Given the description of an element on the screen output the (x, y) to click on. 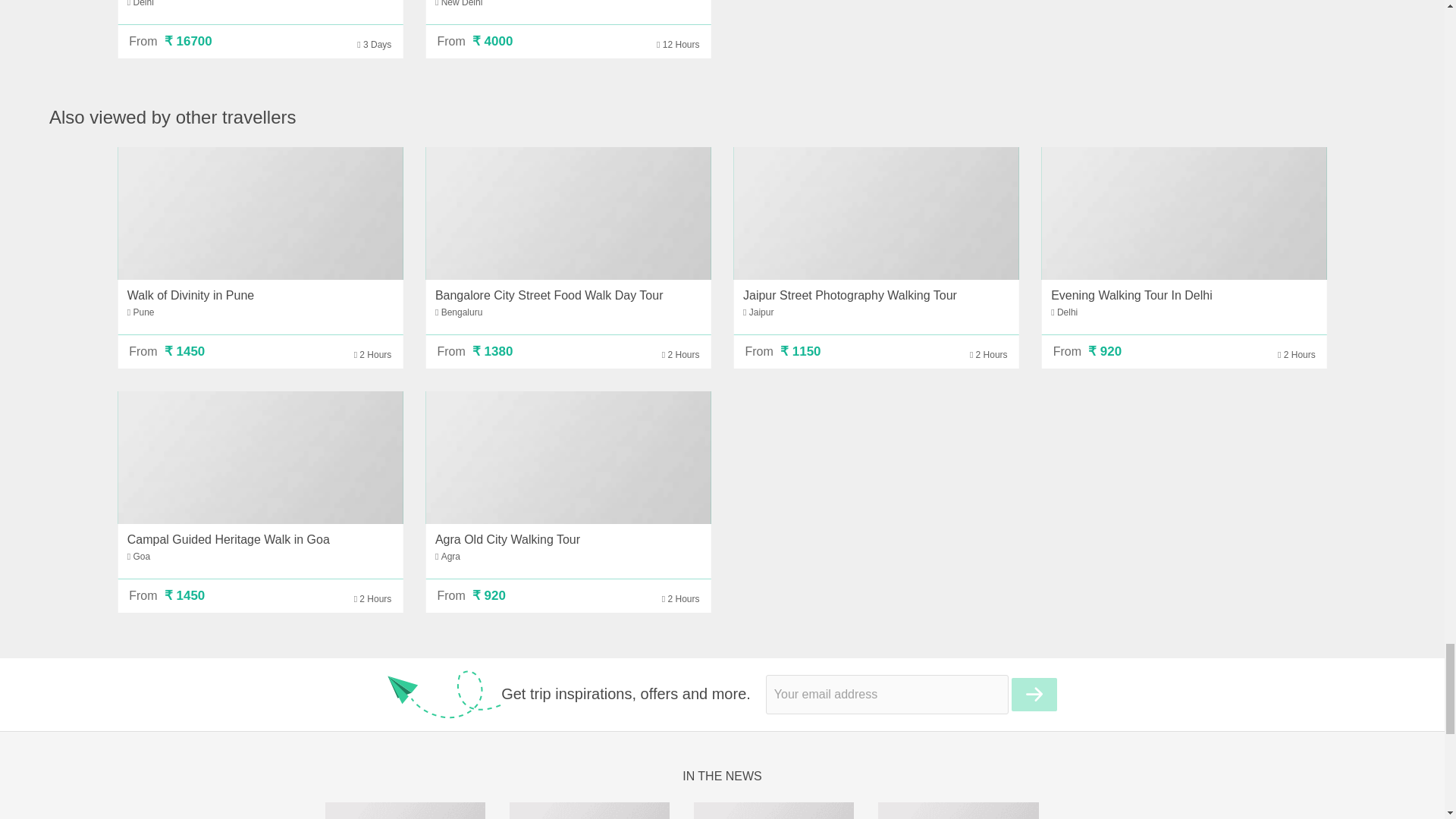
Walk of Divinity in Pune (260, 213)
Walk of Divinity in Pune (190, 295)
Bangalore City Street Food Walk Day Tour (567, 213)
